Given the description of an element on the screen output the (x, y) to click on. 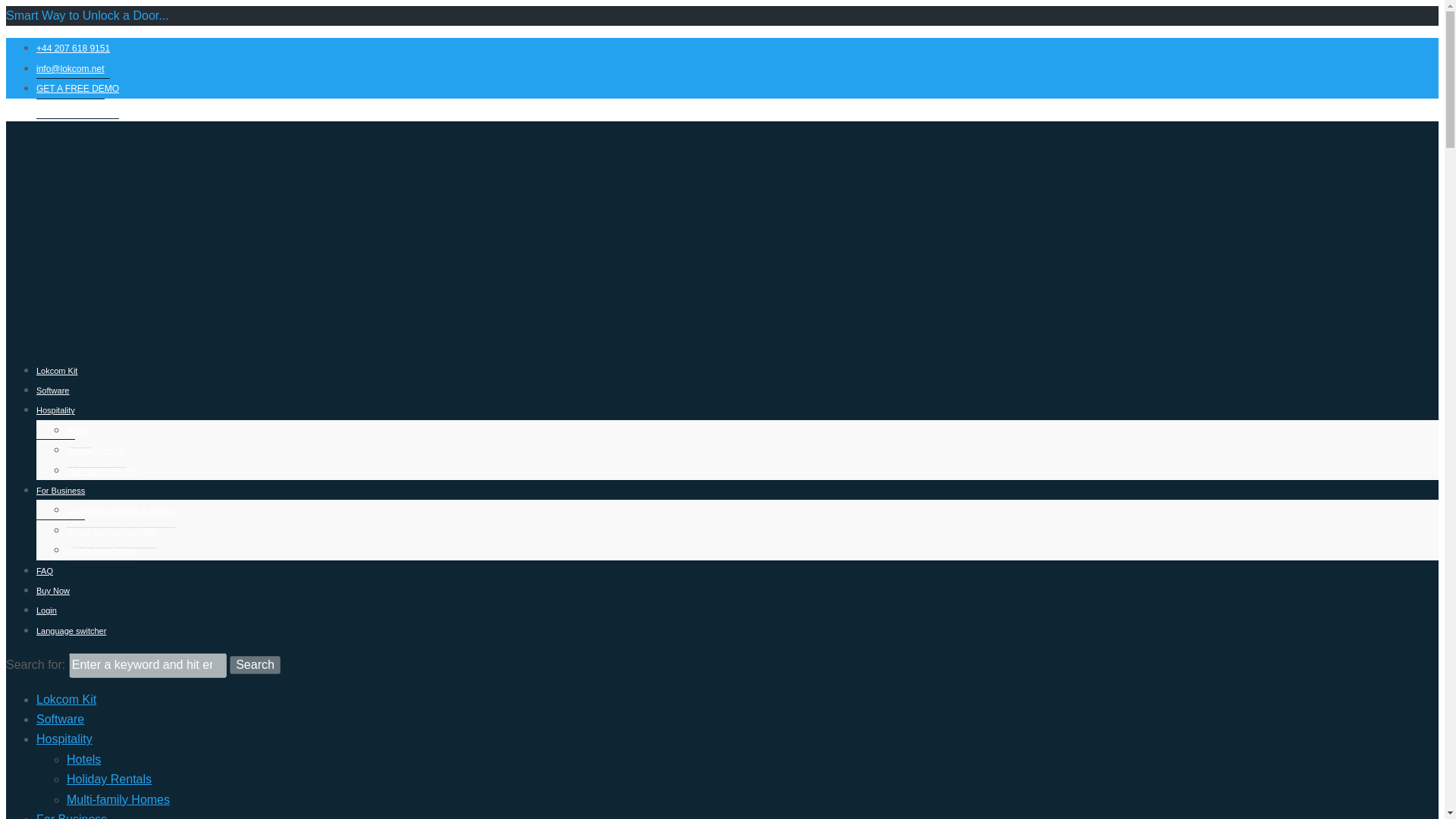
Search (255, 665)
Holiday Rentals (108, 779)
Multi-family Homes (102, 471)
Software (60, 718)
Elderly Healthcare (100, 550)
For Business (71, 816)
GET A FREE DEMO (77, 88)
Lokcom Kit (66, 698)
Hotels (83, 758)
Search (255, 665)
